Given the description of an element on the screen output the (x, y) to click on. 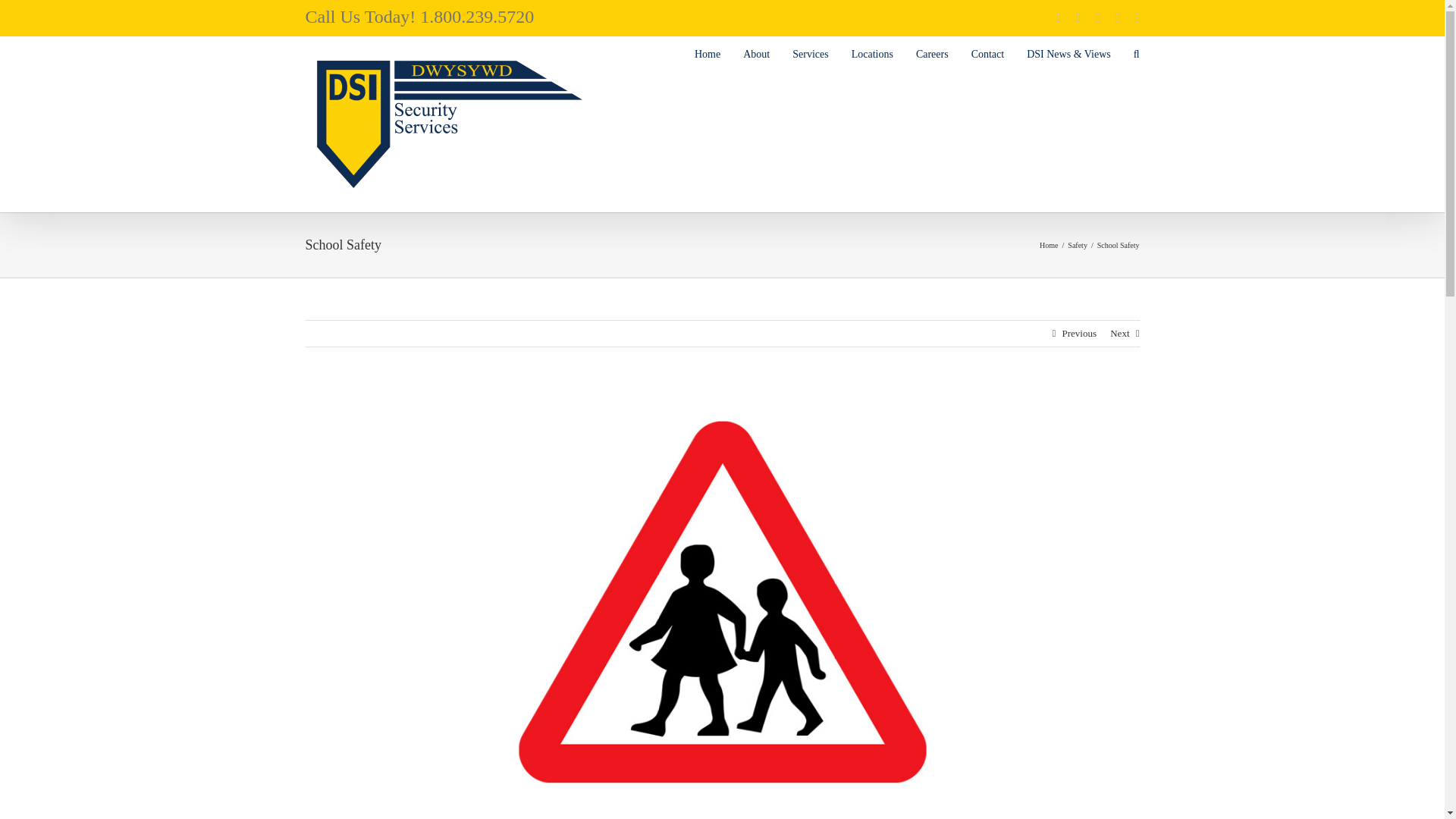
Contact (987, 52)
Careers (932, 52)
Call Us Today! 1.800.239.5720 (419, 16)
Locations (872, 52)
Services (810, 52)
